Given the description of an element on the screen output the (x, y) to click on. 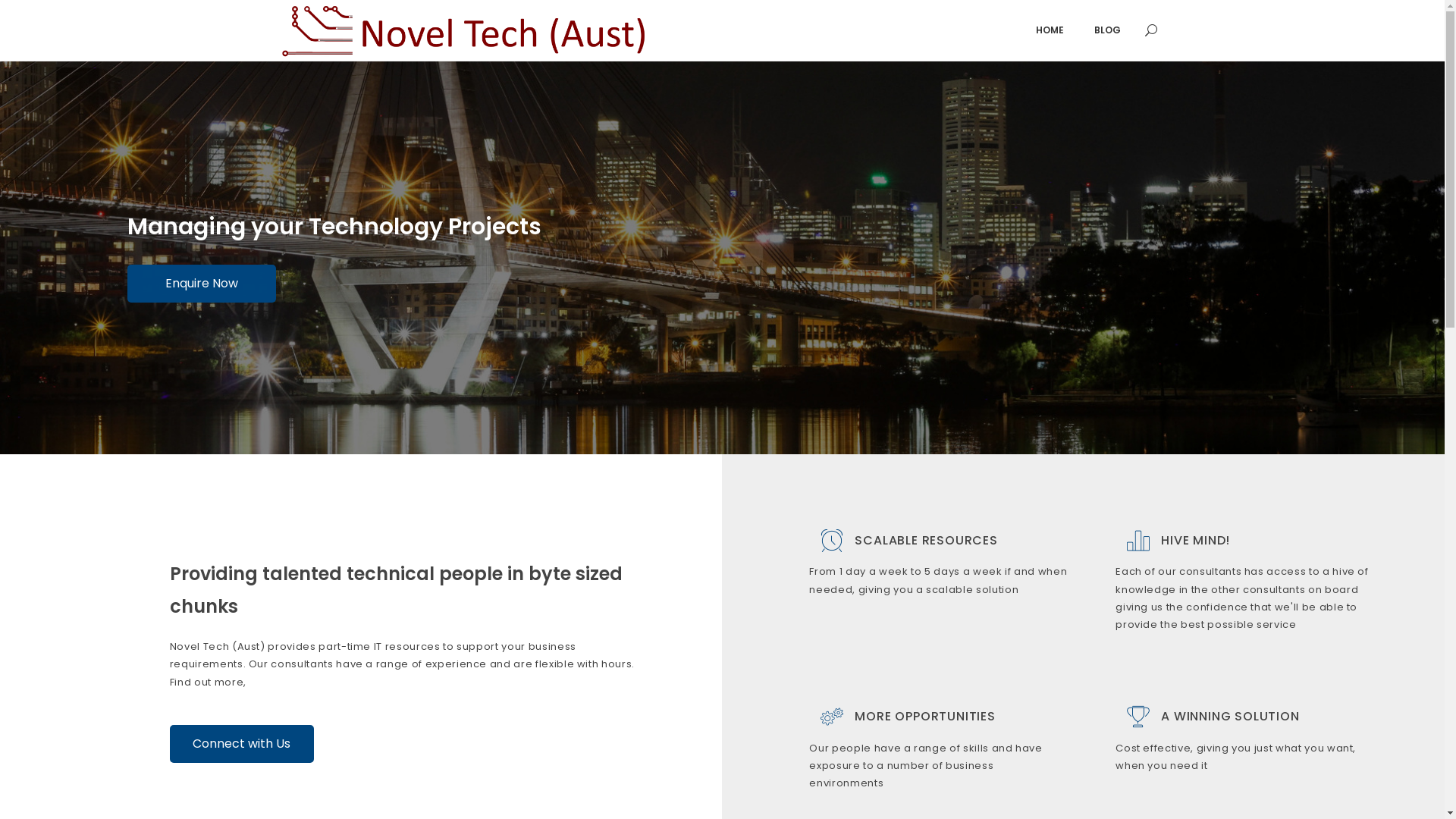
MORE OPPORTUNITIES Element type: text (924, 715)
BLOG Element type: text (1106, 30)
A WINNING SOLUTION Element type: text (1230, 715)
Enquire Now Element type: text (201, 282)
Connect with Us Element type: text (241, 743)
HOME Element type: text (1049, 30)
Novel Tech Aust Element type: hover (464, 29)
HIVE MIND! Element type: text (1195, 539)
SCALABLE RESOURCES Element type: text (925, 539)
